Given the description of an element on the screen output the (x, y) to click on. 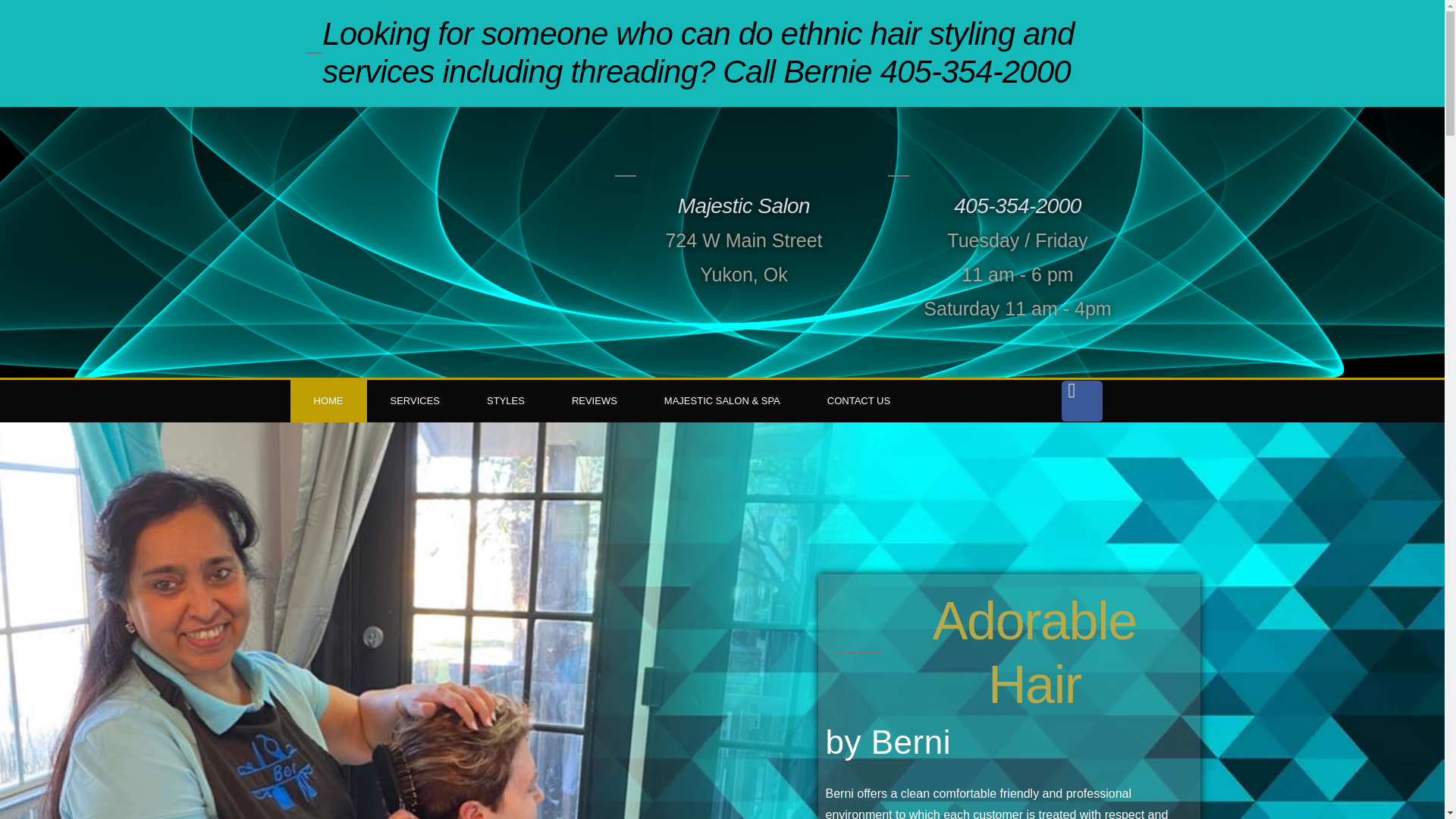
HOME (327, 401)
CONTACT US (858, 401)
STYLES (505, 401)
SERVICES (415, 401)
REVIEWS (594, 401)
